Given the description of an element on the screen output the (x, y) to click on. 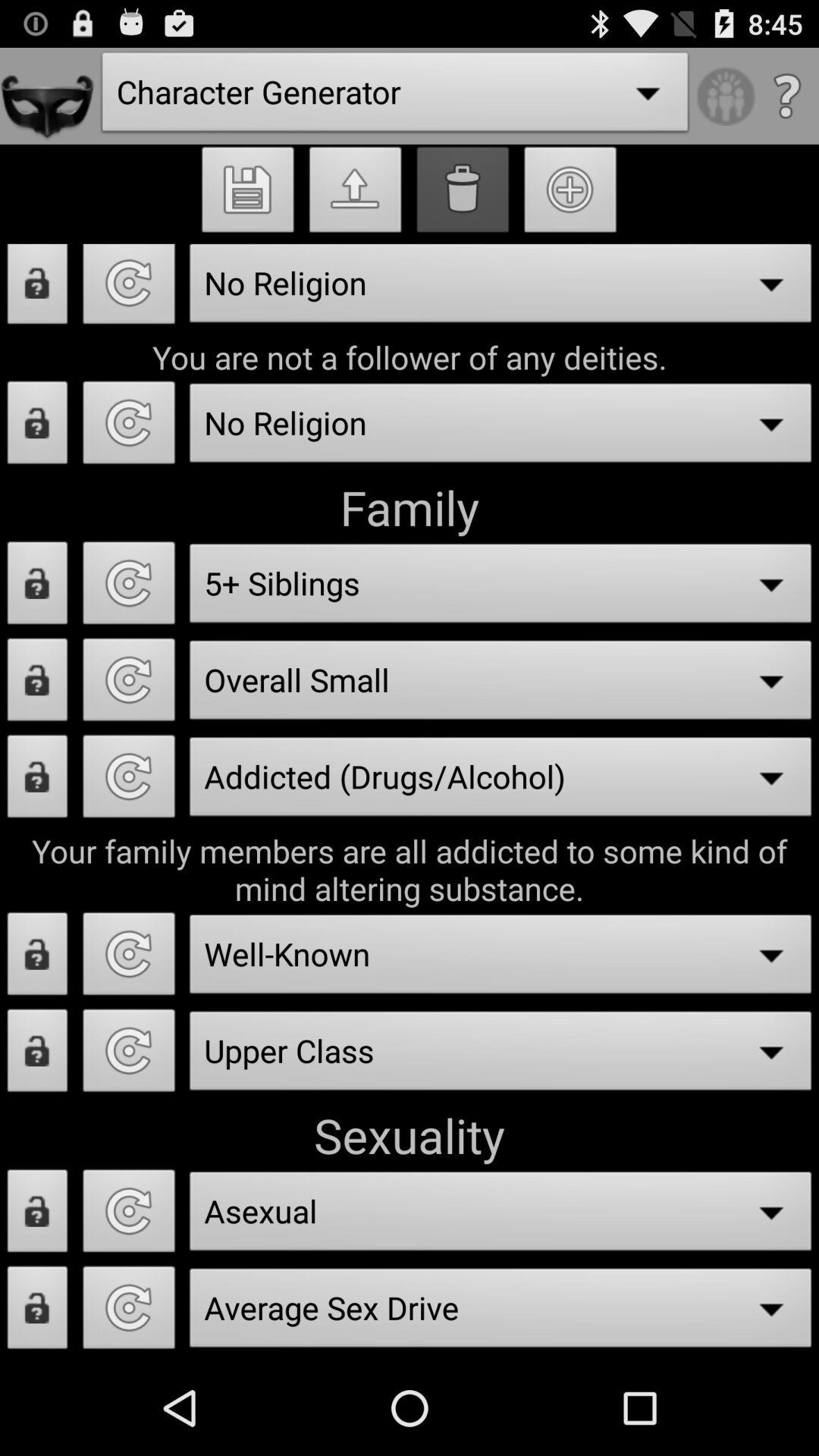
average sex drive (129, 1311)
